Given the description of an element on the screen output the (x, y) to click on. 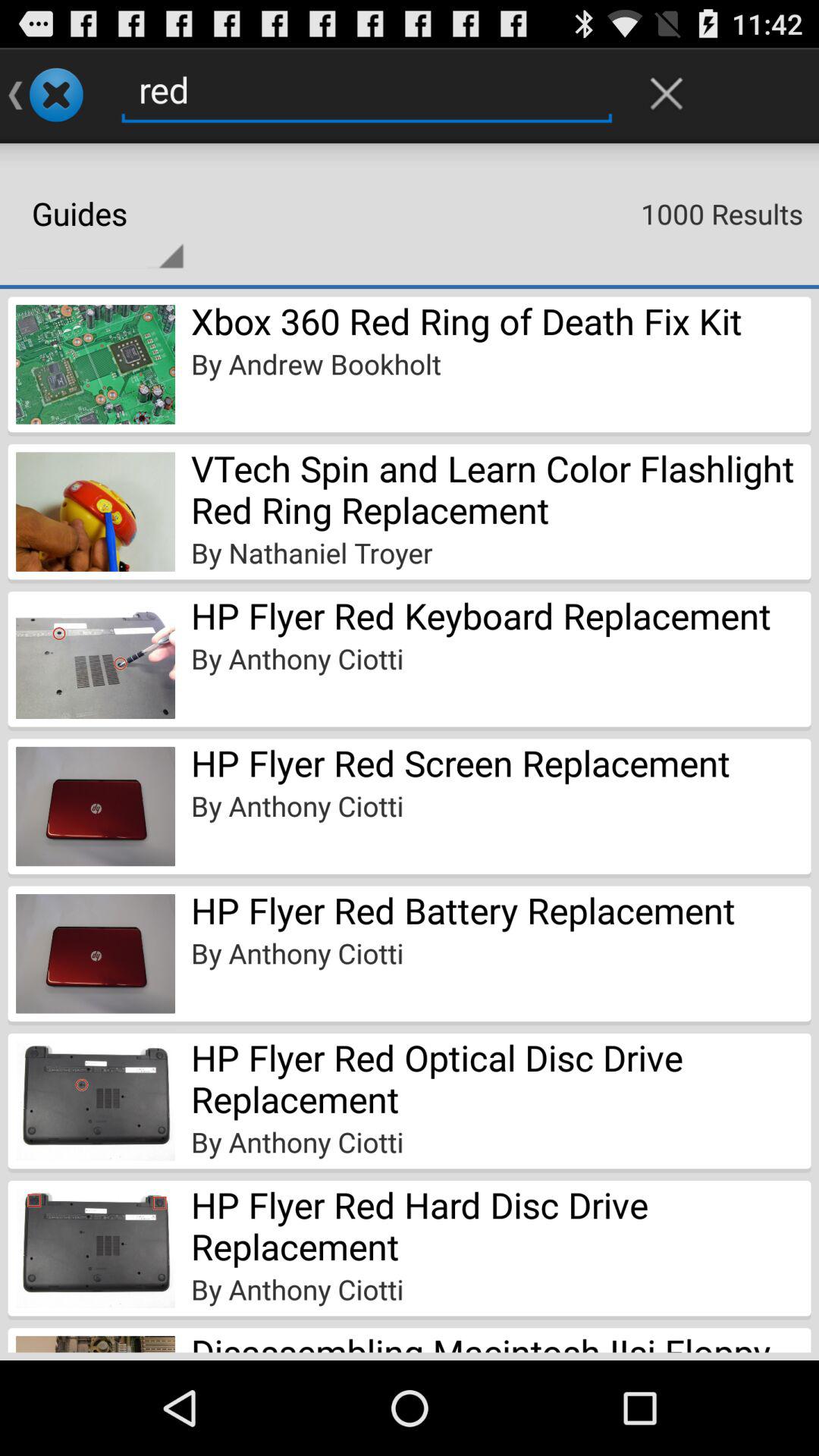
launch item to the right of red icon (666, 93)
